Given the description of an element on the screen output the (x, y) to click on. 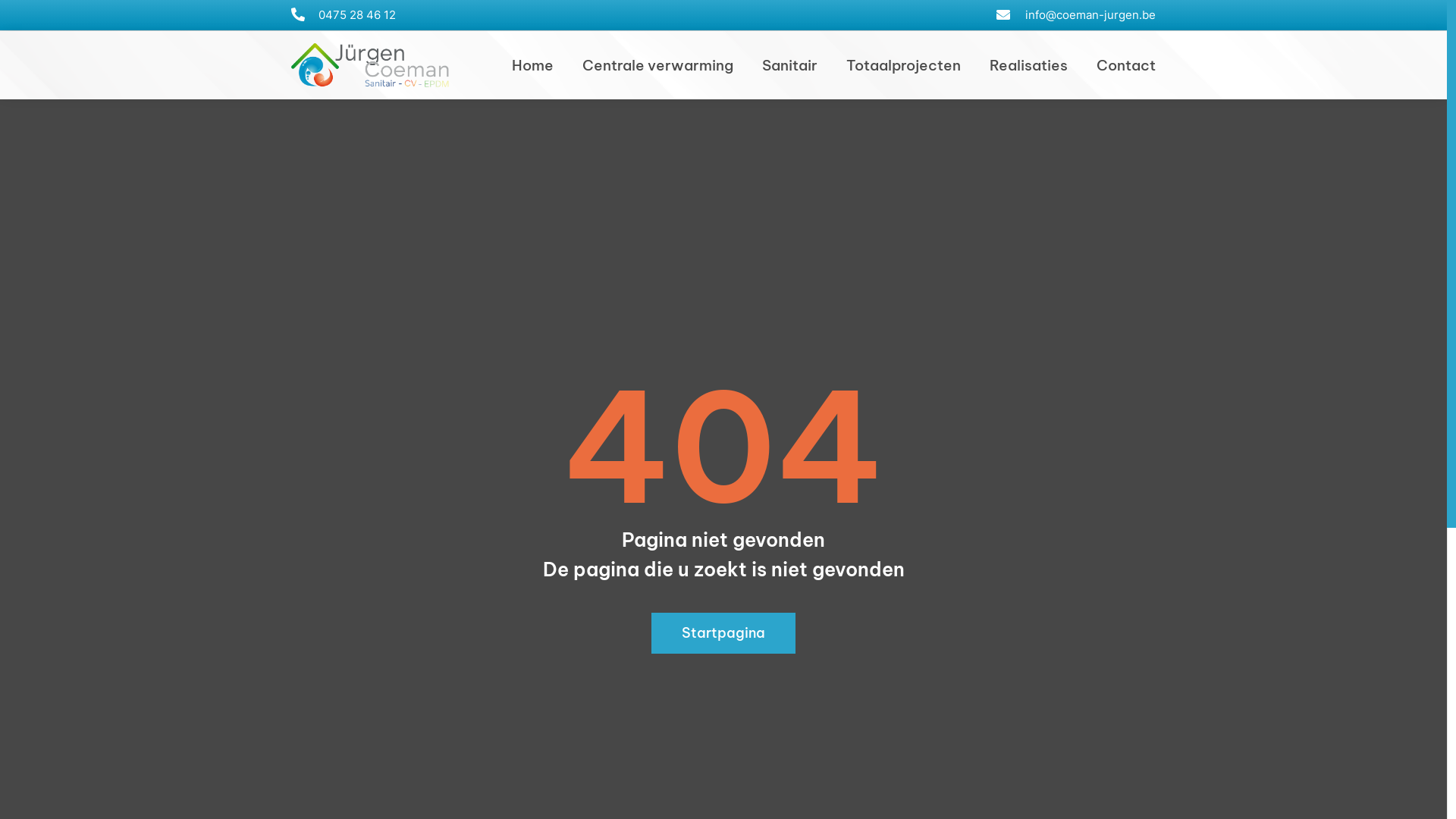
Centrale verwarming Element type: text (657, 64)
Contact Element type: text (1125, 64)
Sanitair Element type: text (789, 64)
0475 28 46 12 Element type: text (343, 14)
Totaalprojecten Element type: text (903, 64)
Startpagina Element type: text (723, 632)
Home Element type: text (532, 64)
Realisaties Element type: text (1028, 64)
info@coeman-jurgen.be Element type: text (1074, 14)
